Given the description of an element on the screen output the (x, y) to click on. 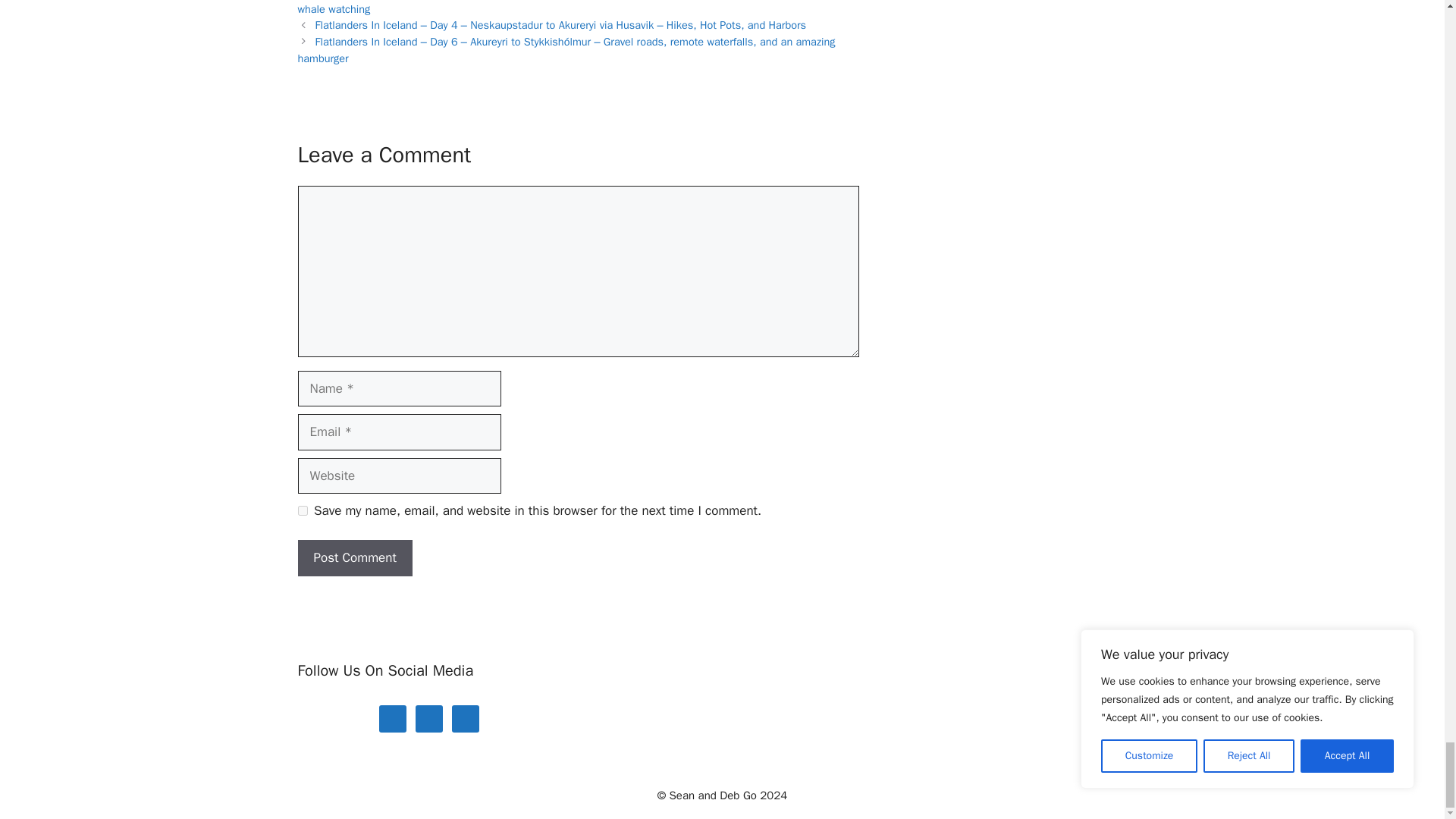
Post Comment (354, 557)
yes (302, 510)
